Given the description of an element on the screen output the (x, y) to click on. 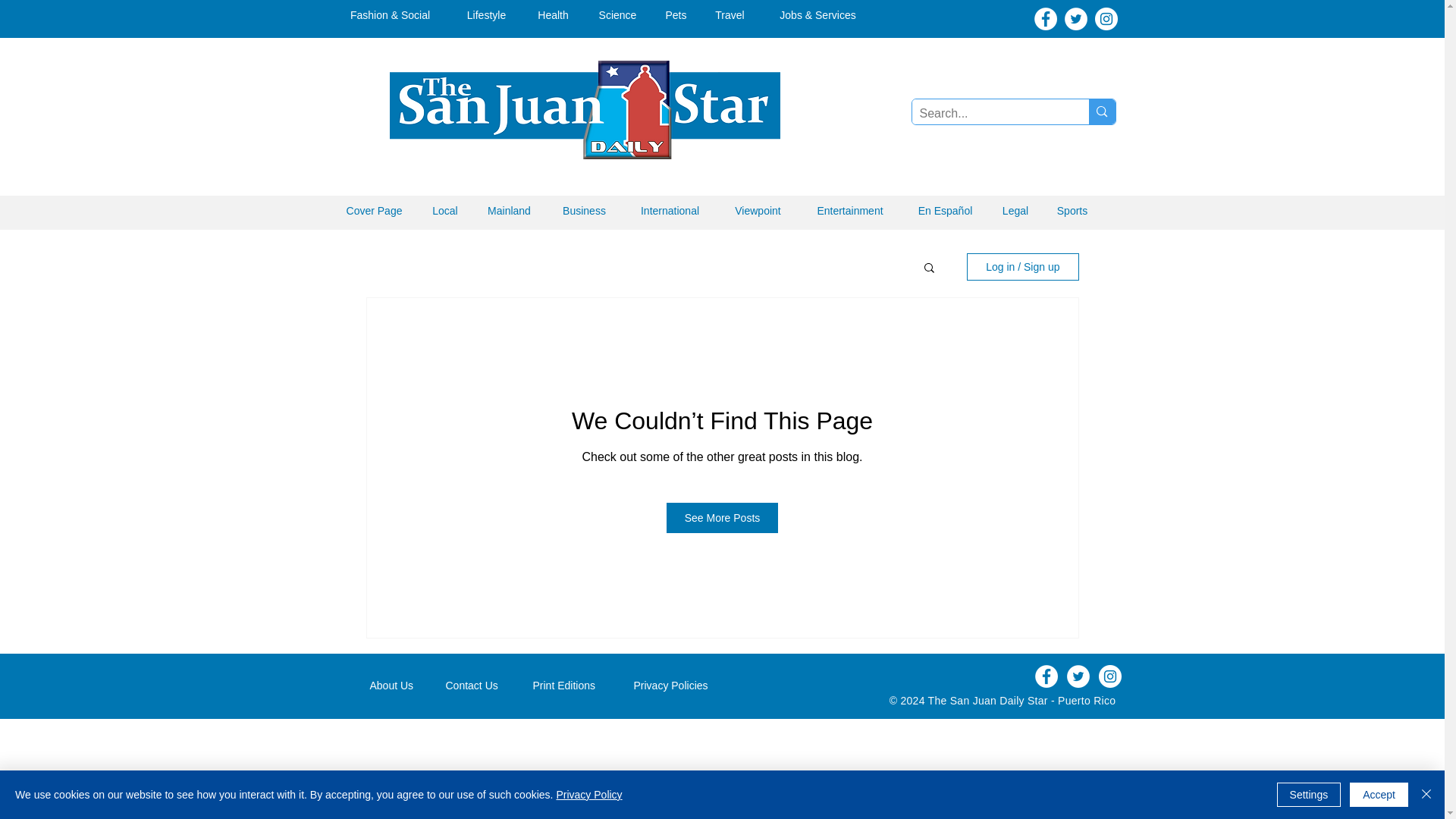
Cover Page (374, 210)
Local (445, 210)
Privacy Policy (588, 794)
International (669, 210)
Lifestyle (485, 15)
Print Editions (572, 685)
Privacy Policies (679, 685)
Viewpoint (757, 210)
Health (552, 15)
Sports (1072, 210)
Entertainment (849, 210)
Contact Us (477, 685)
See More Posts (722, 517)
Legal (1015, 210)
Business (583, 210)
